Given the description of an element on the screen output the (x, y) to click on. 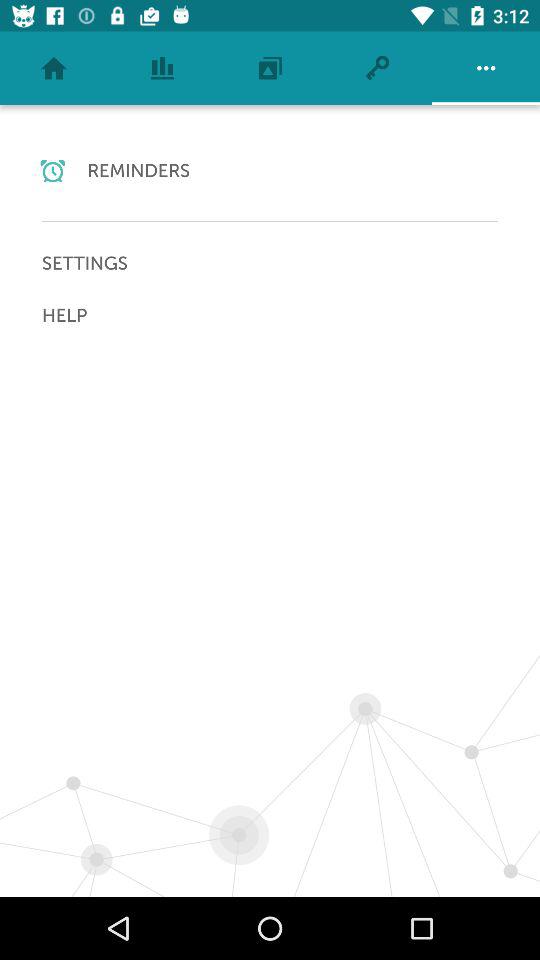
jump until settings icon (270, 263)
